Given the description of an element on the screen output the (x, y) to click on. 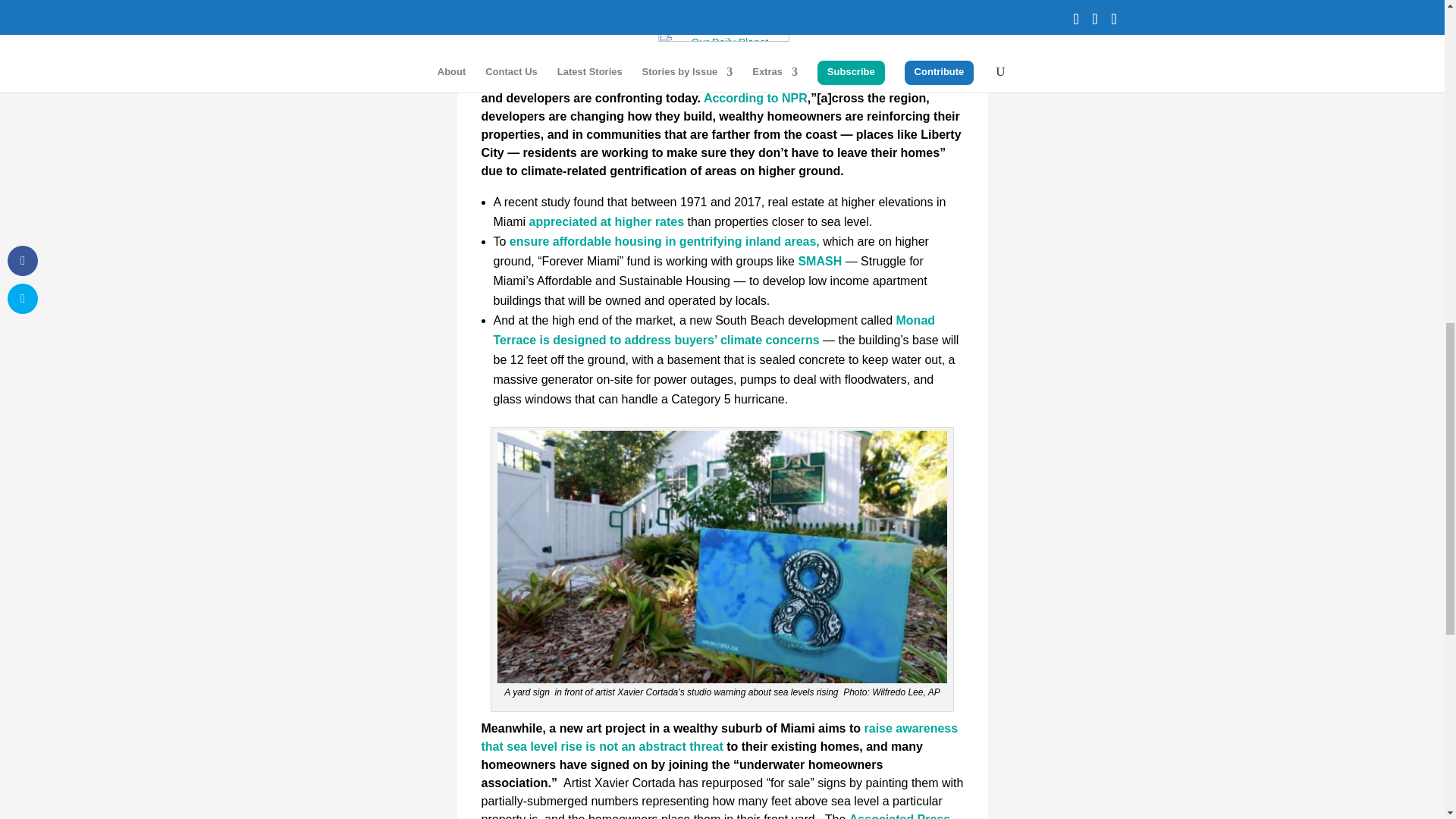
Associated Press reported that (715, 816)
SMASH (819, 260)
ensure affordable housing in gentrifying inland areas, (664, 241)
According to NPR (755, 97)
appreciated at higher rates (606, 221)
